Given the description of an element on the screen output the (x, y) to click on. 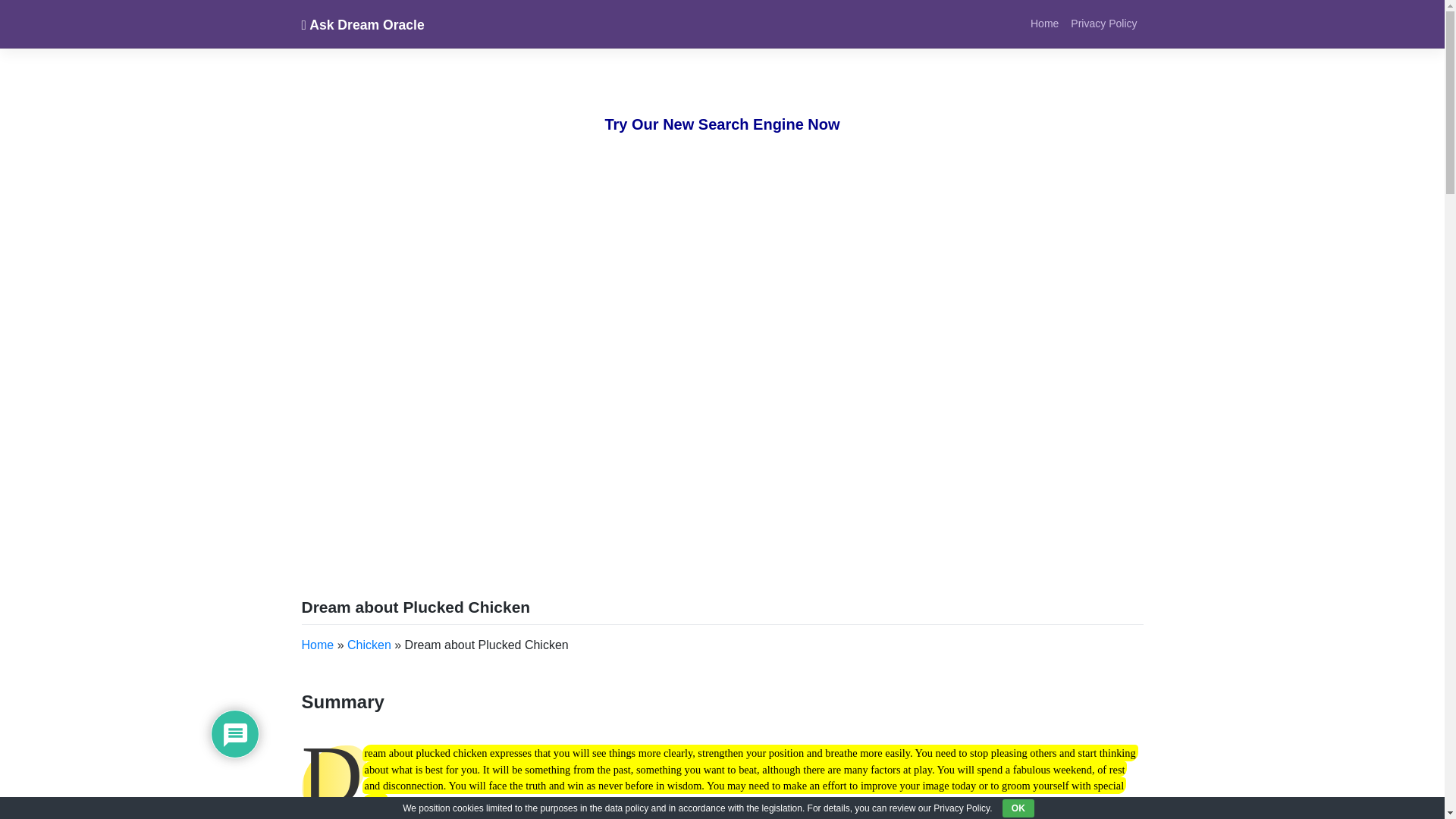
Chicken (369, 644)
Privacy Policy (1103, 23)
Privacy Policy (1103, 23)
Home (1044, 23)
Ask Dream Oracle (363, 24)
Home (317, 644)
Home (1044, 23)
OK (1018, 808)
